Given the description of an element on the screen output the (x, y) to click on. 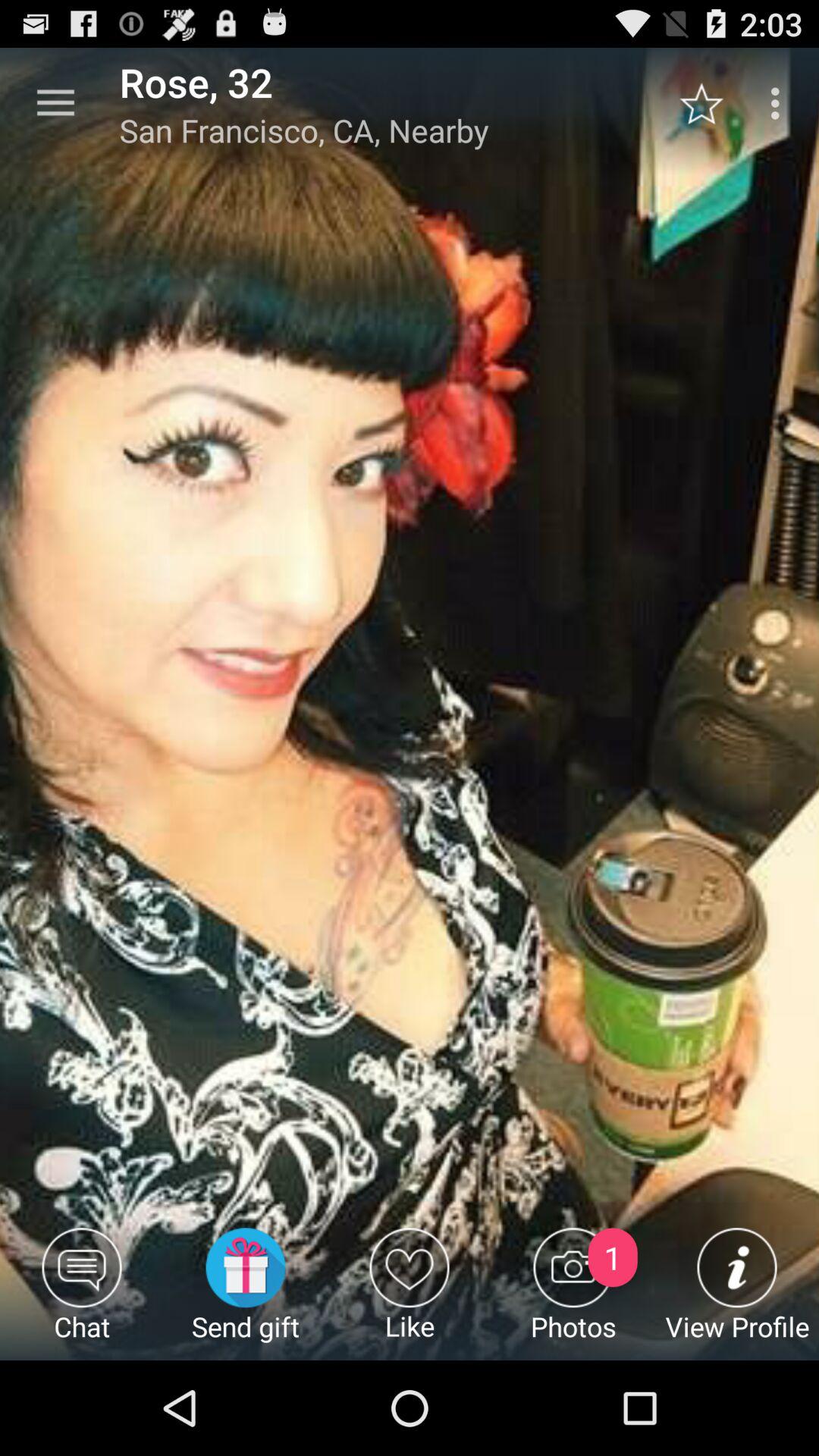
turn on photos item (573, 1293)
